Given the description of an element on the screen output the (x, y) to click on. 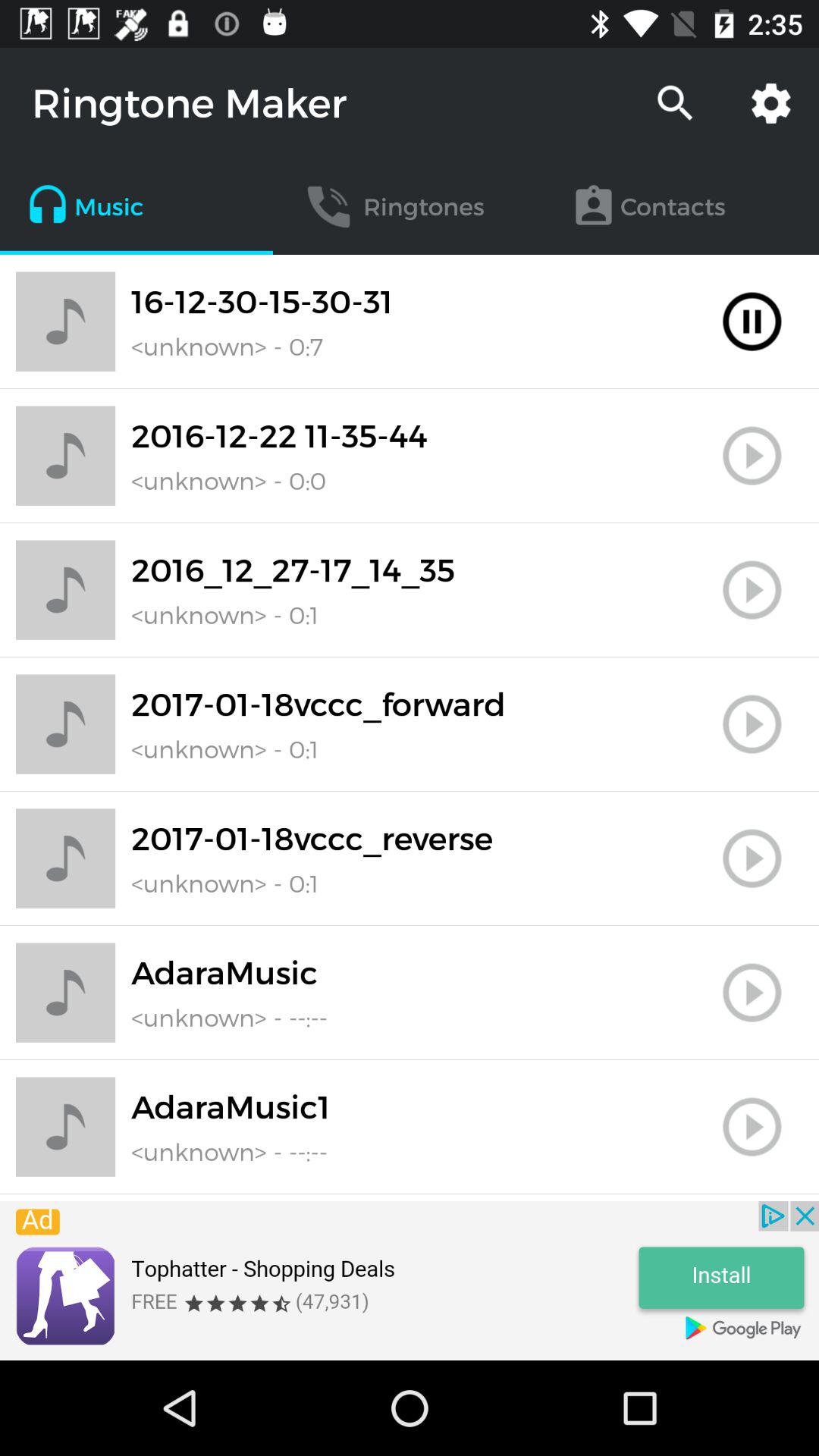
play this (752, 858)
